Given the description of an element on the screen output the (x, y) to click on. 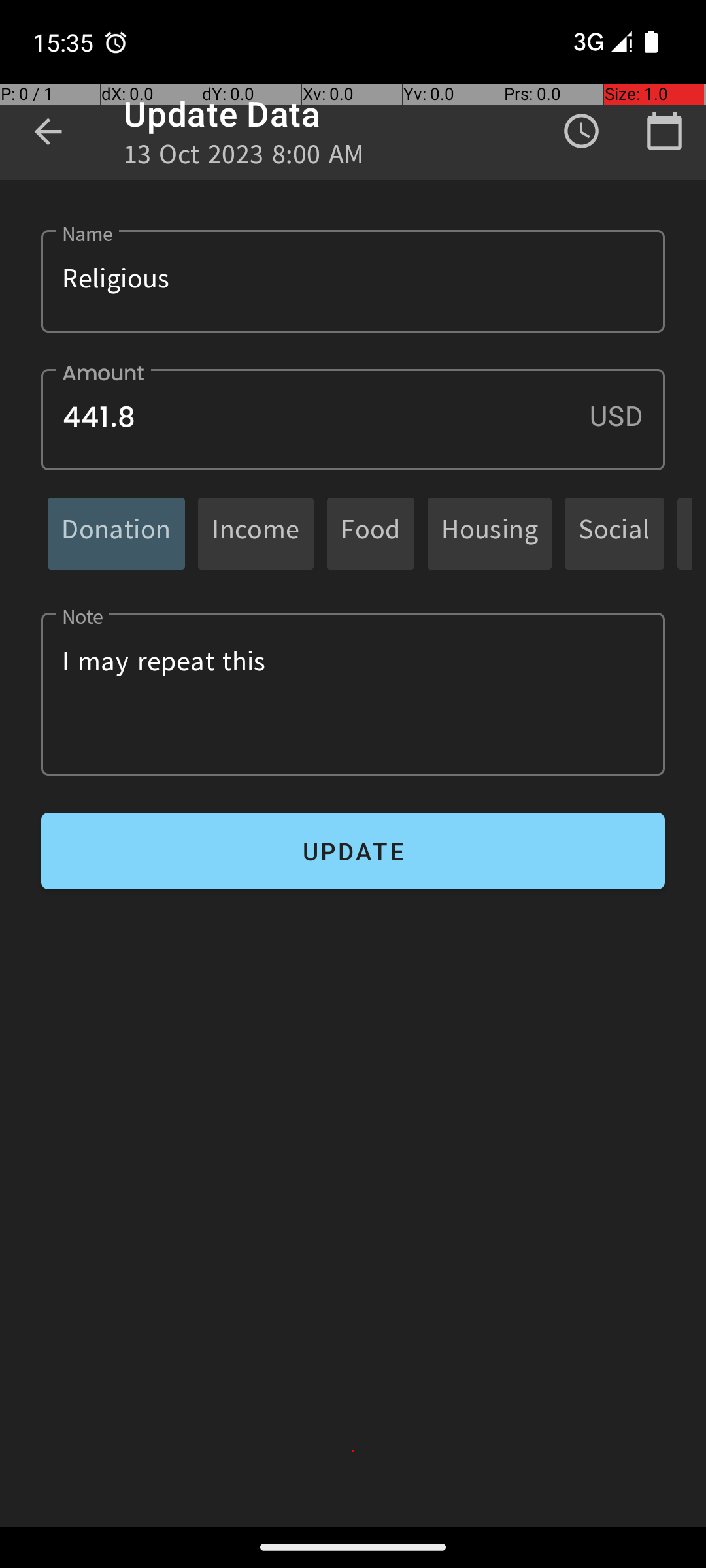
13 Oct 2023 8:00 AM Element type: android.widget.TextView (243, 157)
441.8 Element type: android.widget.EditText (352, 419)
Donation Element type: android.widget.TextView (116, 533)
